Given the description of an element on the screen output the (x, y) to click on. 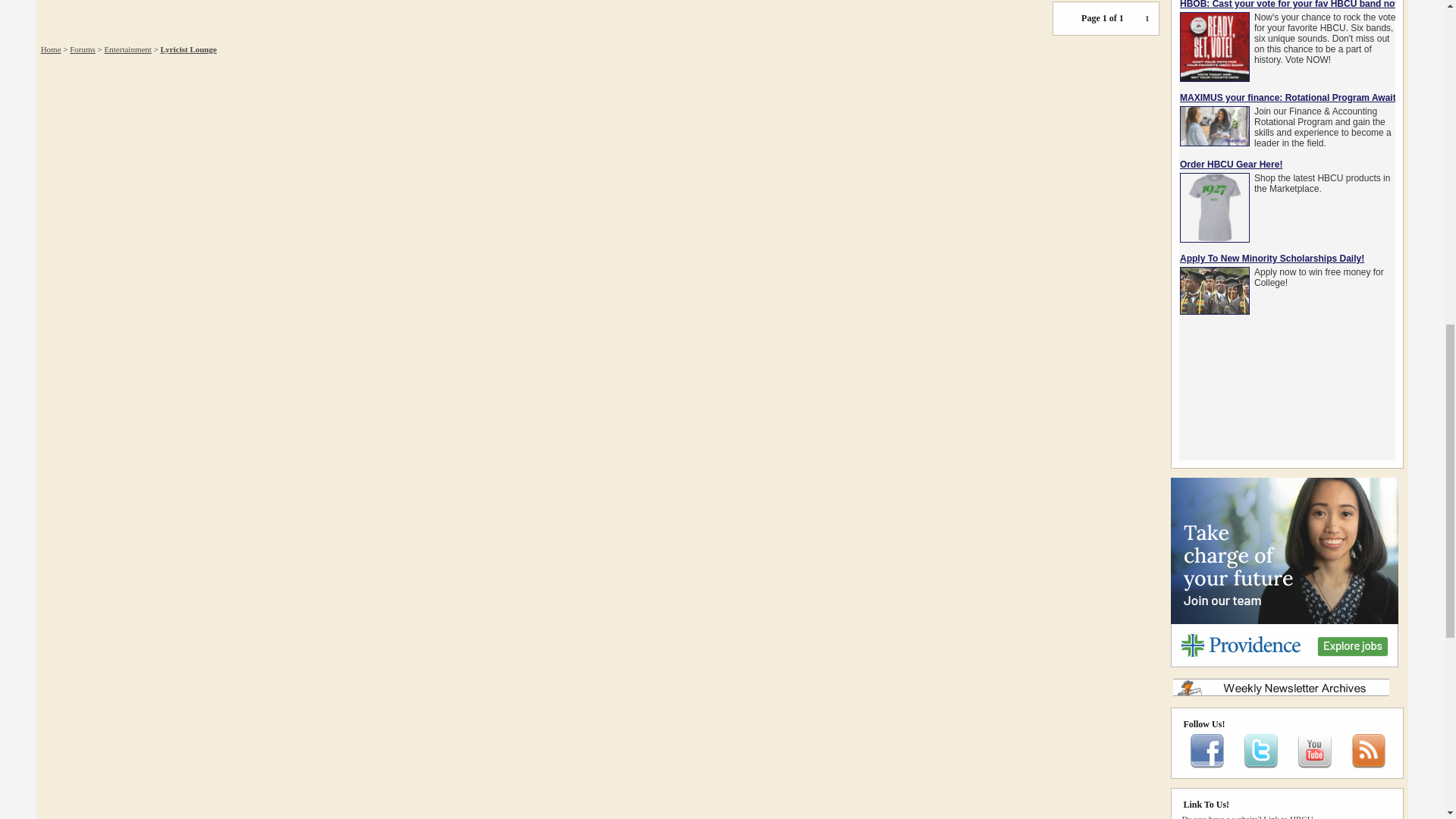
Follow us on Twitter! (1260, 764)
Follow us on Facebook! (1206, 764)
Follow us on YouTube! (1314, 764)
Follow us via RSS! (1368, 764)
